Given the description of an element on the screen output the (x, y) to click on. 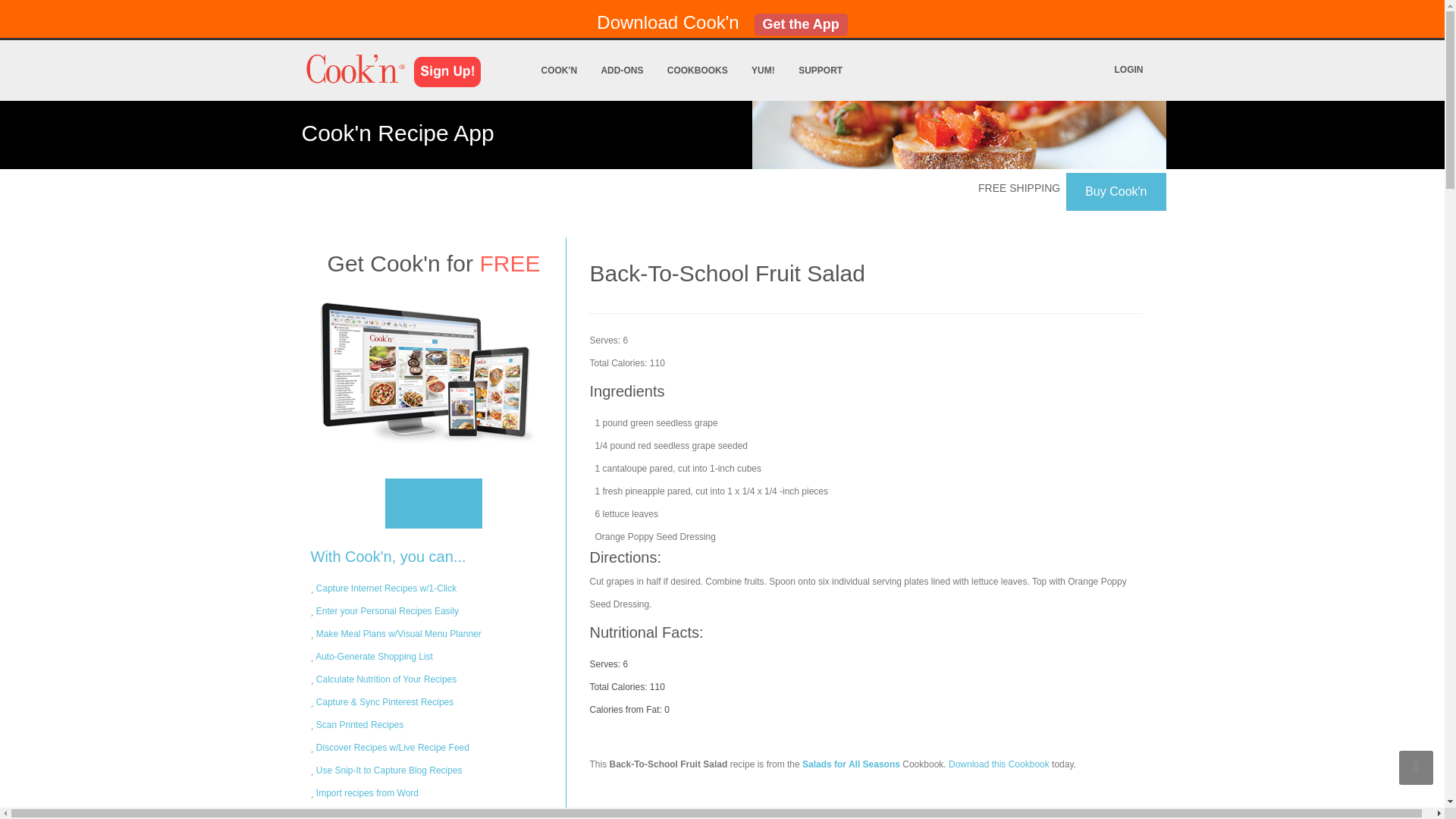
ADD-ONS (621, 70)
Get the App (800, 22)
COOK'N (559, 70)
SUPPORT (820, 70)
LOGIN (1128, 69)
COOKBOOKS (697, 70)
